Given the description of an element on the screen output the (x, y) to click on. 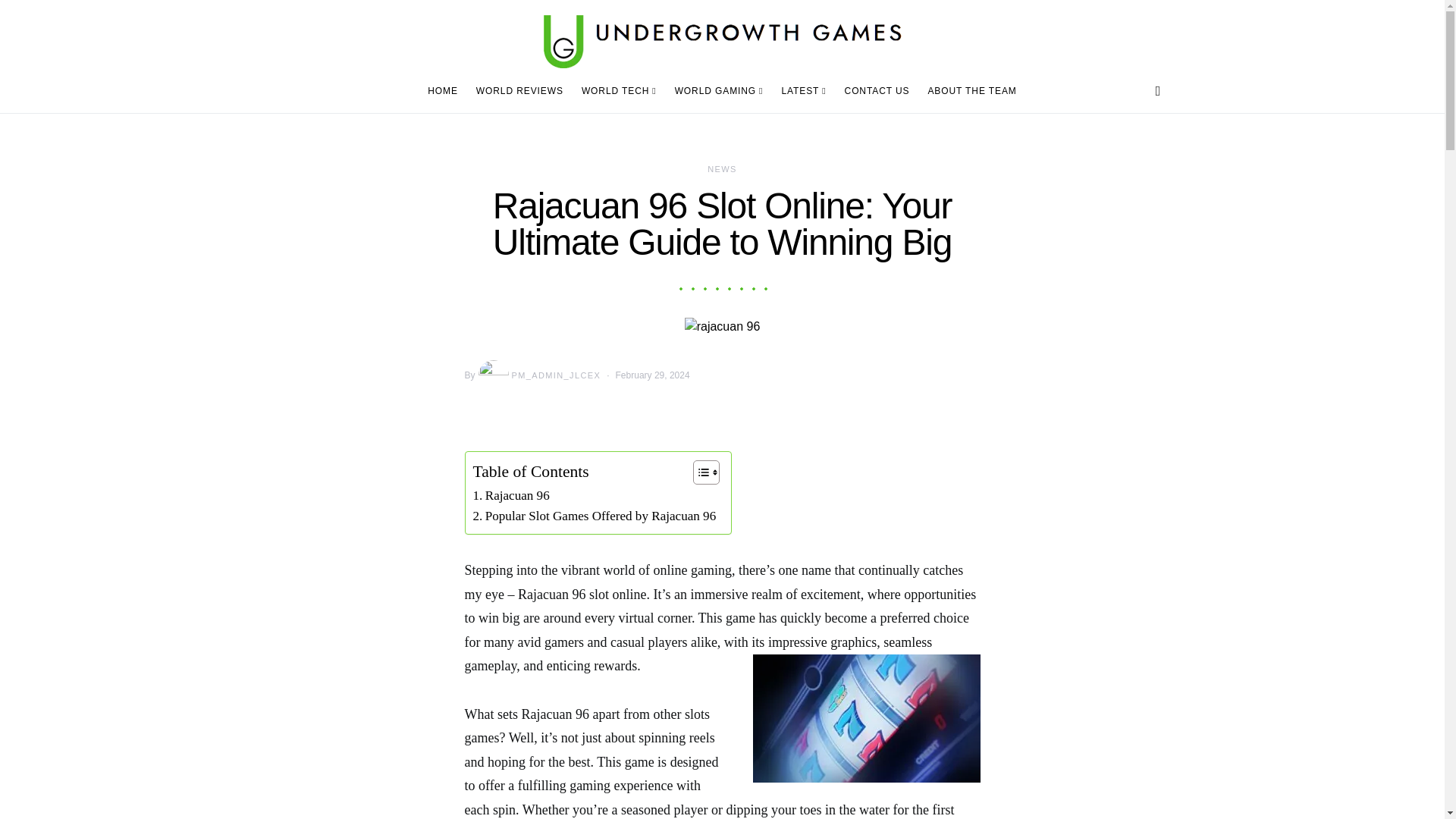
LATEST (802, 90)
Popular Slot Games Offered by Rajacuan 96 (594, 516)
NEWS (721, 168)
Popular Slot Games Offered by Rajacuan 96 (594, 516)
CONTACT US (876, 90)
ABOUT THE TEAM (967, 90)
Rajacuan 96 (511, 495)
Rajacuan 96 (511, 495)
WORLD REVIEWS (519, 90)
WORLD GAMING (719, 90)
